Given the description of an element on the screen output the (x, y) to click on. 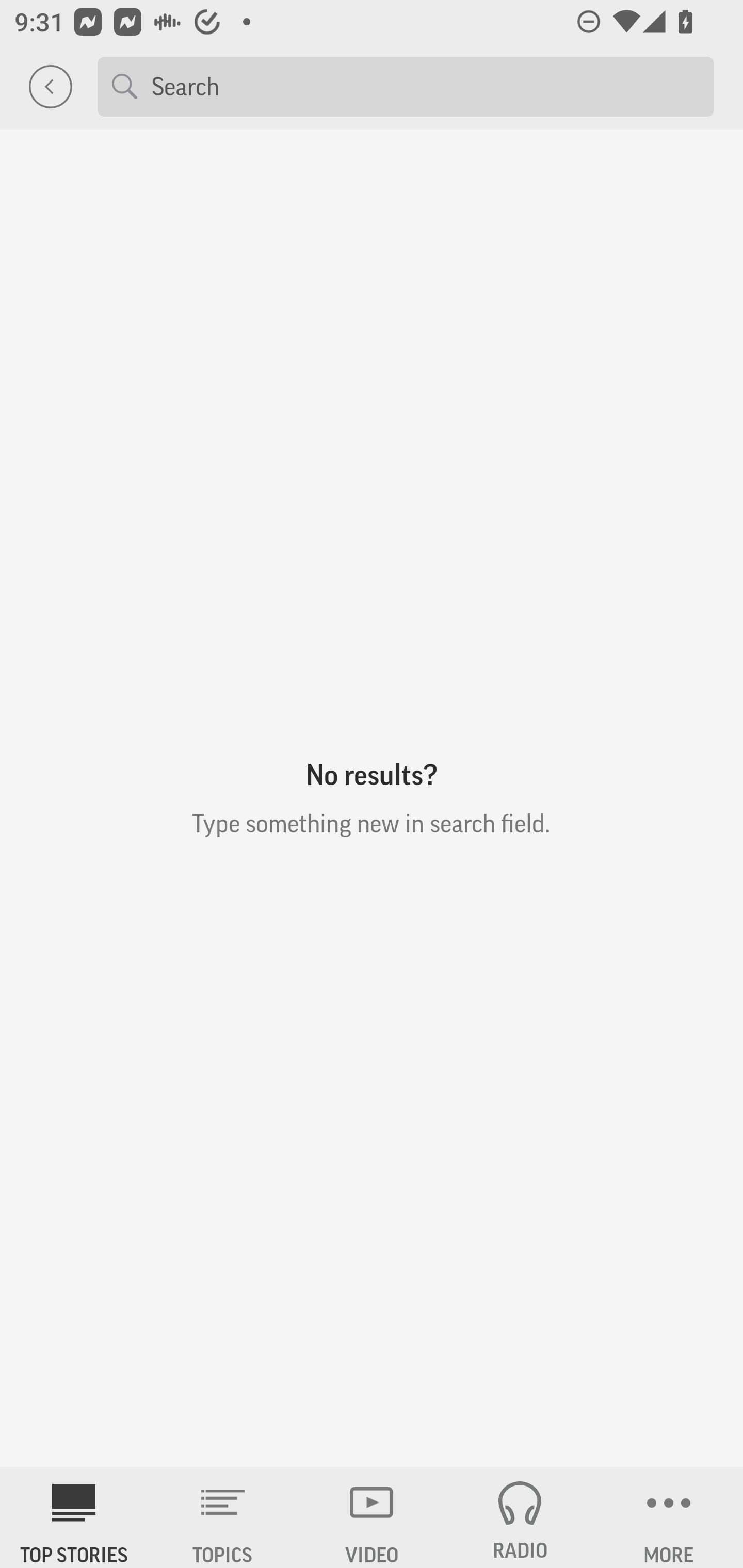
Search (425, 86)
AP News TOP STORIES (74, 1517)
TOPICS (222, 1517)
VIDEO (371, 1517)
RADIO (519, 1517)
MORE (668, 1517)
